Given the description of an element on the screen output the (x, y) to click on. 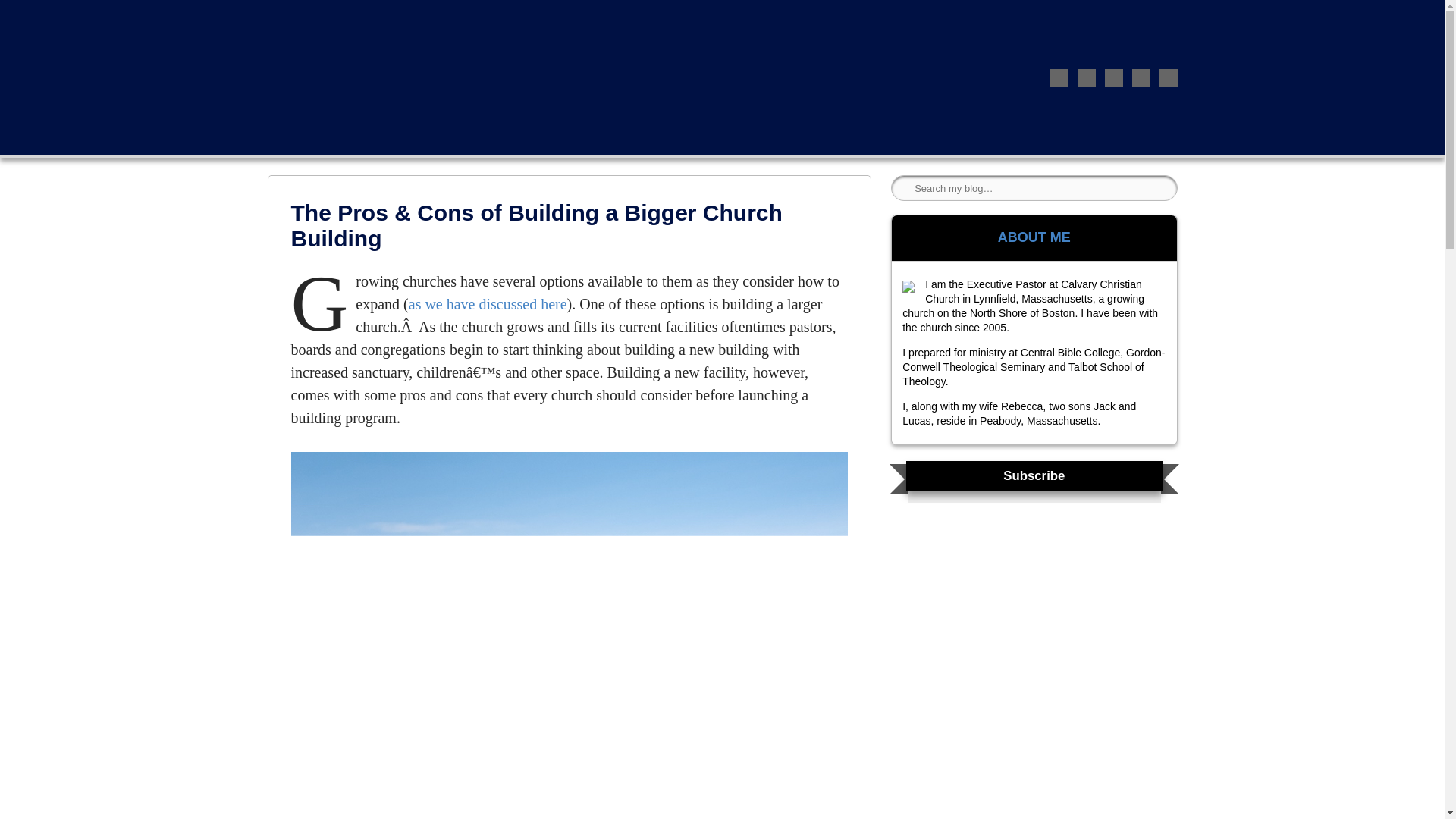
Follow me on Twitter (1058, 77)
Check out my YouTube channel (1167, 77)
Skip to content (299, 10)
Follow me on Instagram (1140, 77)
as we have discussed here (488, 303)
Connect with me on LinkedIn (1112, 77)
Search (31, 17)
Like me on Facebook (1085, 77)
Skip to content (299, 10)
